Given the description of an element on the screen output the (x, y) to click on. 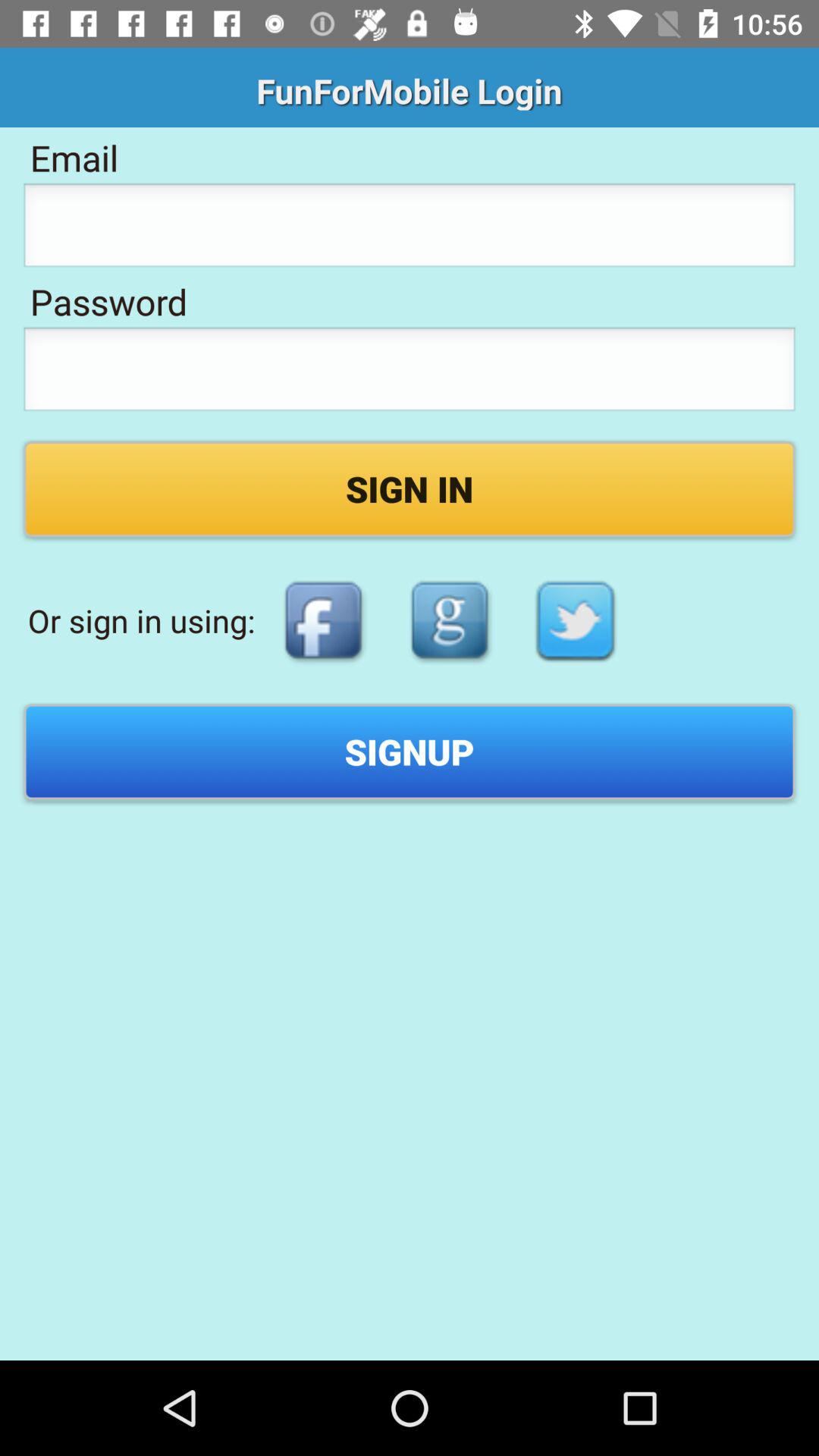
turn off button above signup icon (449, 620)
